Given the description of an element on the screen output the (x, y) to click on. 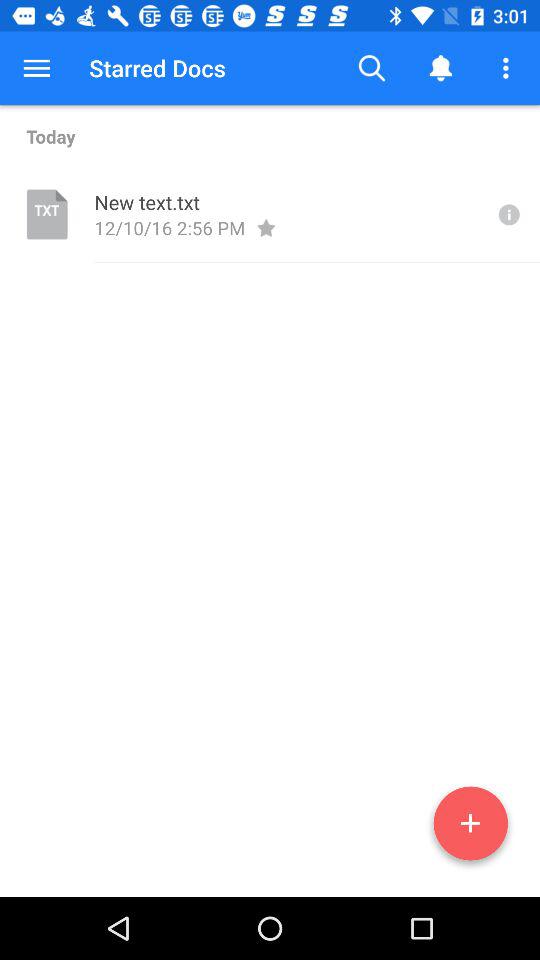
add new file (470, 827)
